Given the description of an element on the screen output the (x, y) to click on. 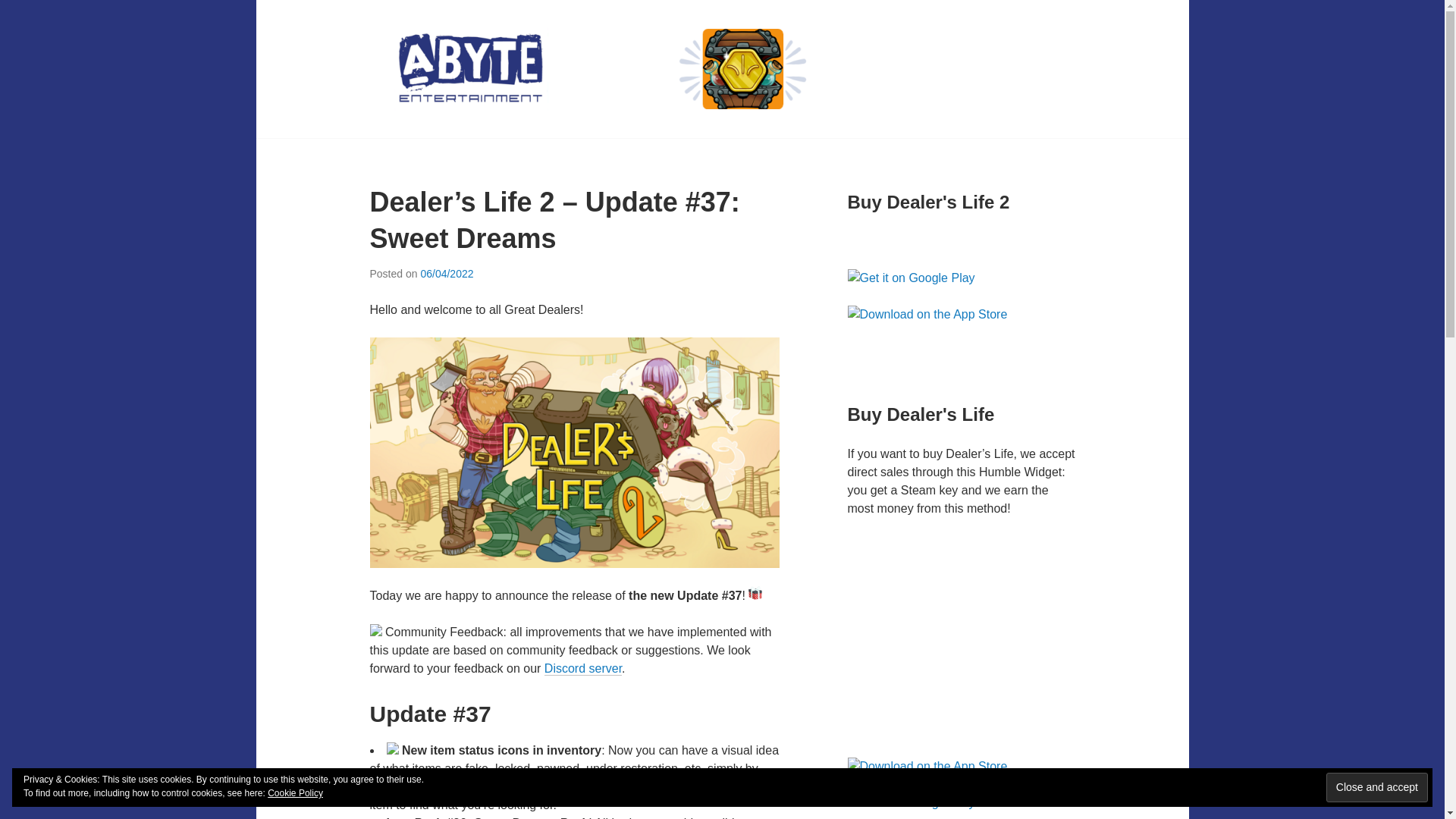
Close and accept (1377, 787)
Discord server (582, 668)
ABYTE ENTERTAINMENT (535, 140)
